Given the description of an element on the screen output the (x, y) to click on. 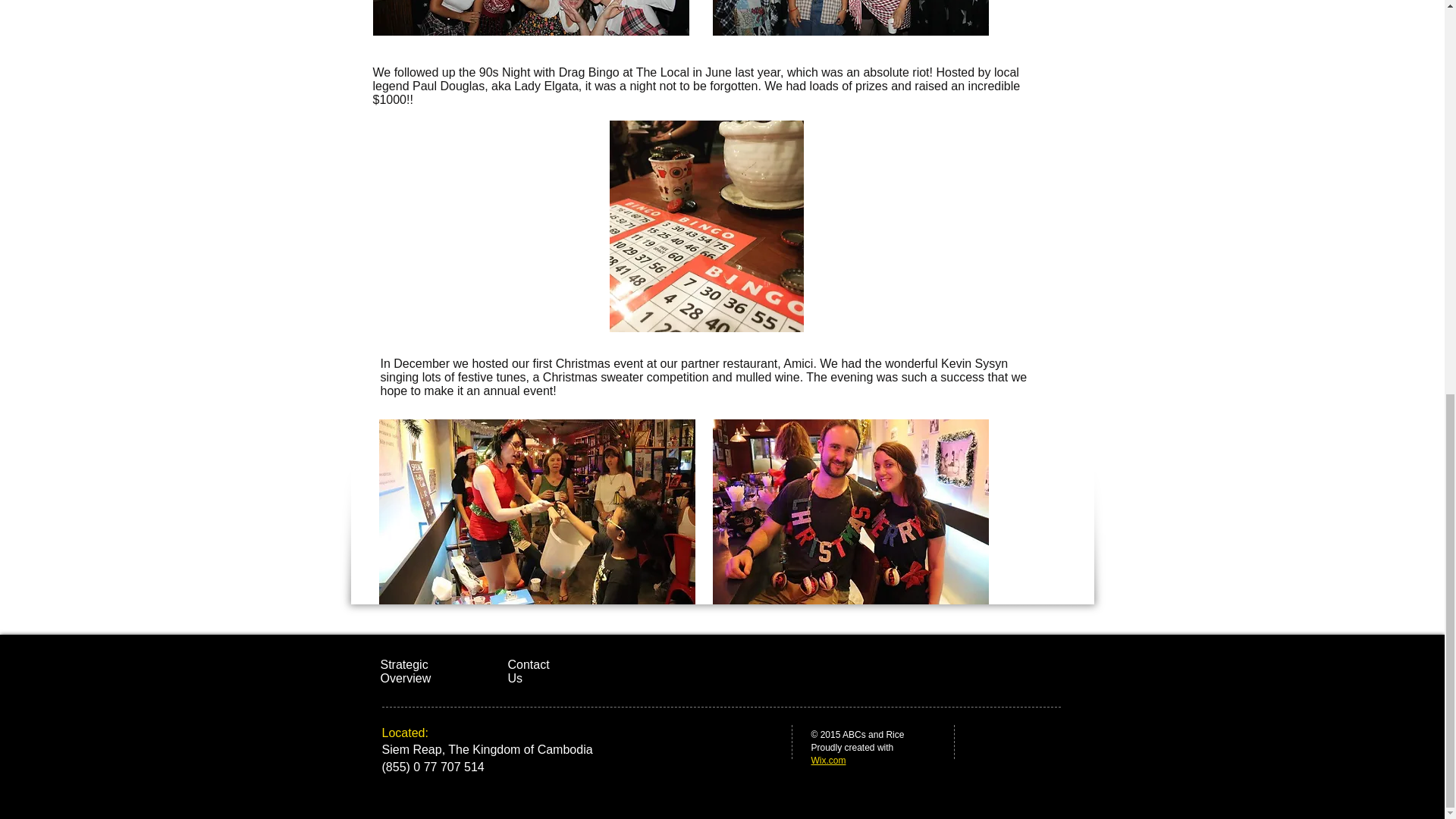
Contact Us (529, 671)
Strategic Overview  (406, 671)
Wix.com (827, 760)
